Given the description of an element on the screen output the (x, y) to click on. 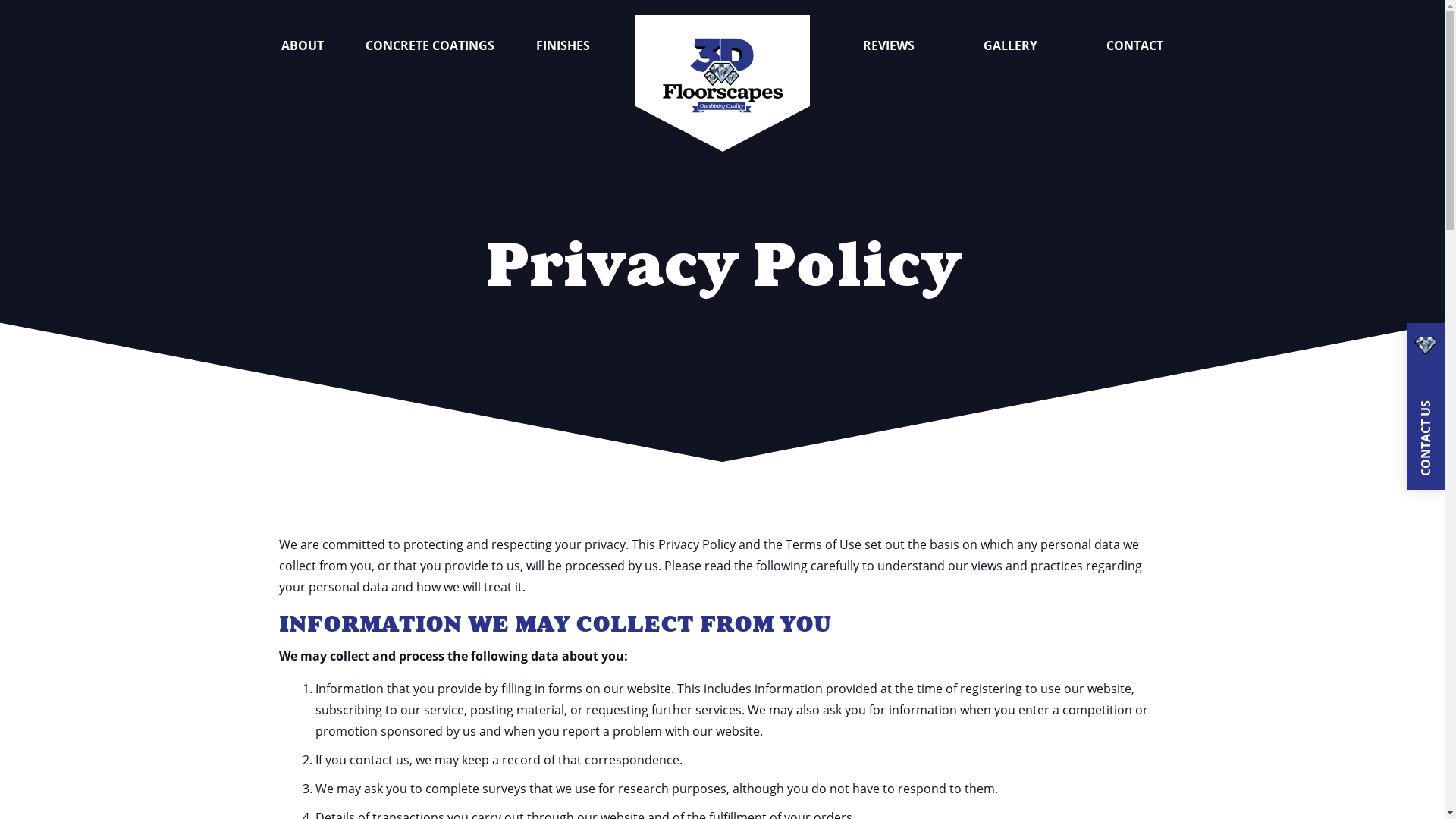
FINISHES Element type: text (562, 45)
GALLERY Element type: text (1010, 45)
CONCRETE COATINGS Element type: text (429, 45)
CONTACT Element type: text (1134, 45)
ABOUT Element type: text (302, 45)
REVIEWS Element type: text (888, 45)
LOGO Element type: text (722, 45)
CONTACT US Element type: text (1425, 406)
